Given the description of an element on the screen output the (x, y) to click on. 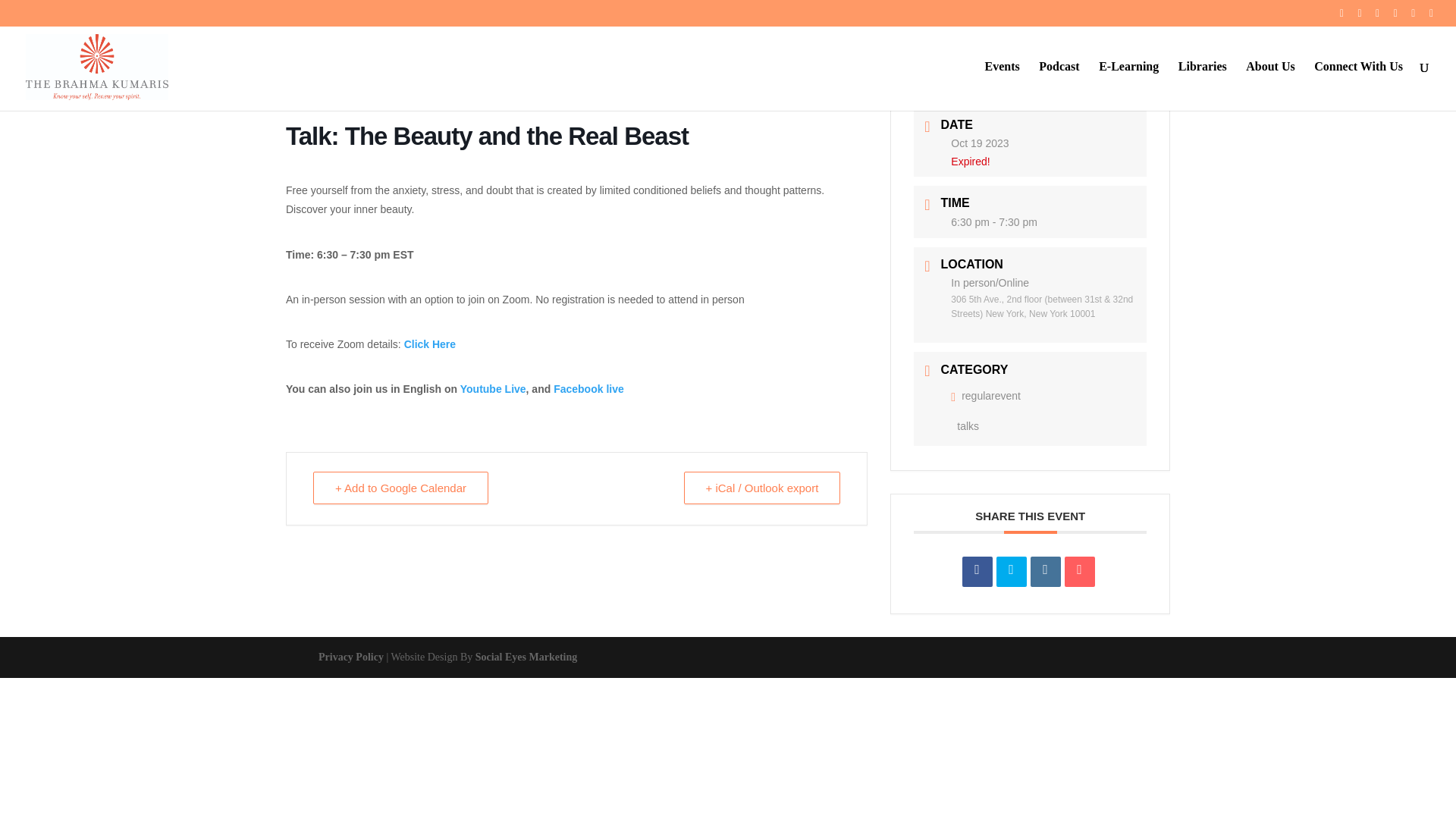
Email (1079, 571)
Click Here (429, 344)
Tweet (1010, 571)
Facebook live (588, 388)
Privacy Policy (351, 656)
Social Eyes Marketing (527, 656)
talks (964, 426)
Connect With Us (1358, 85)
Linkedin (1045, 571)
Share on Facebook (977, 571)
Youtube Live (492, 388)
E-Learning (1128, 85)
regularevent (985, 395)
About Us (1270, 85)
Libraries (1202, 85)
